Given the description of an element on the screen output the (x, y) to click on. 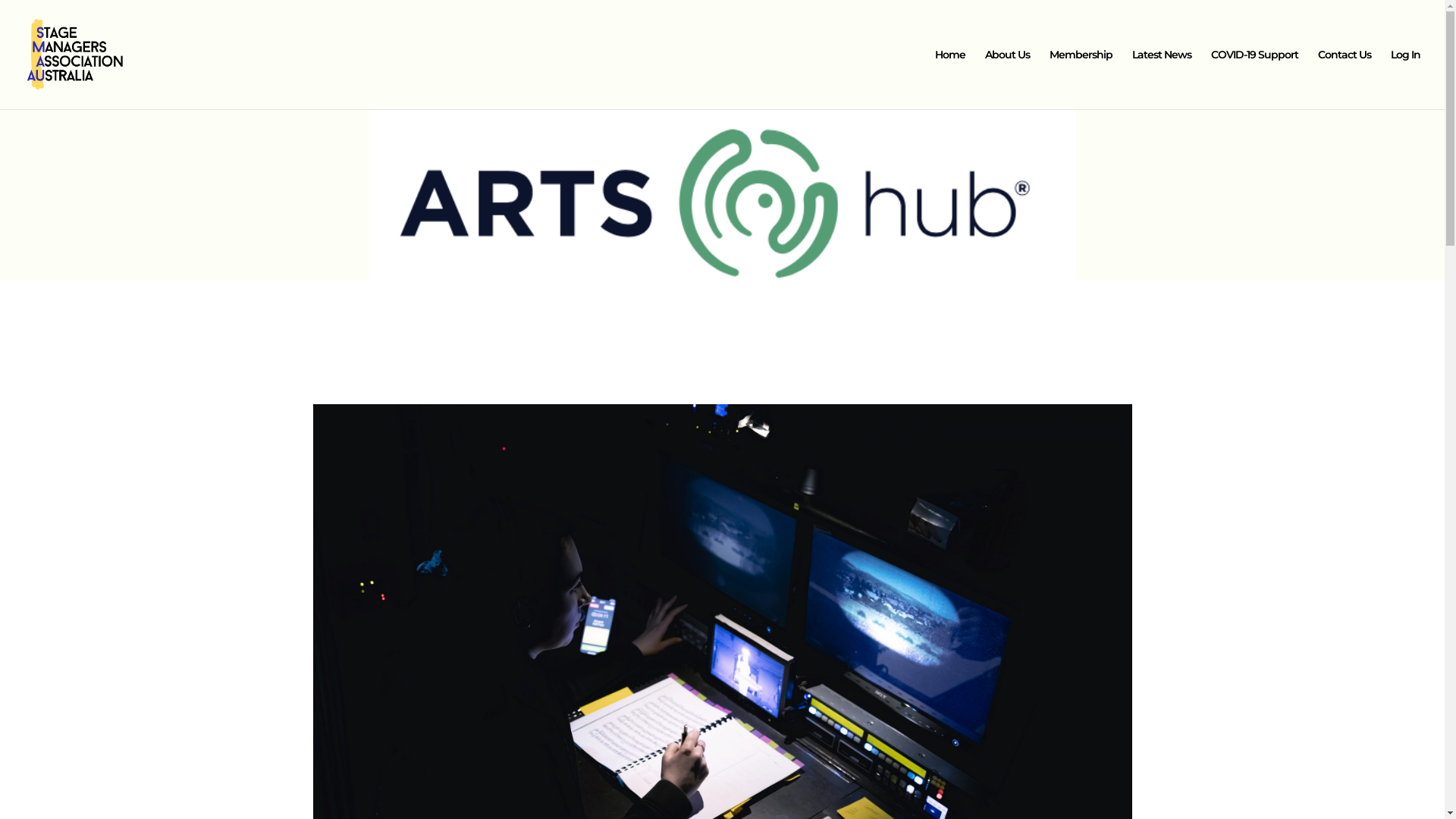
Contact Us Element type: text (1344, 79)
Latest News Element type: text (1161, 79)
Screen Shot 2021-10-18 at 5.13.39 pm Element type: hover (722, 212)
About Us Element type: text (1007, 79)
COVID-19 Support Element type: text (1254, 79)
Home Element type: text (950, 79)
Membership Element type: text (1080, 79)
Log In Element type: text (1405, 79)
